Given the description of an element on the screen output the (x, y) to click on. 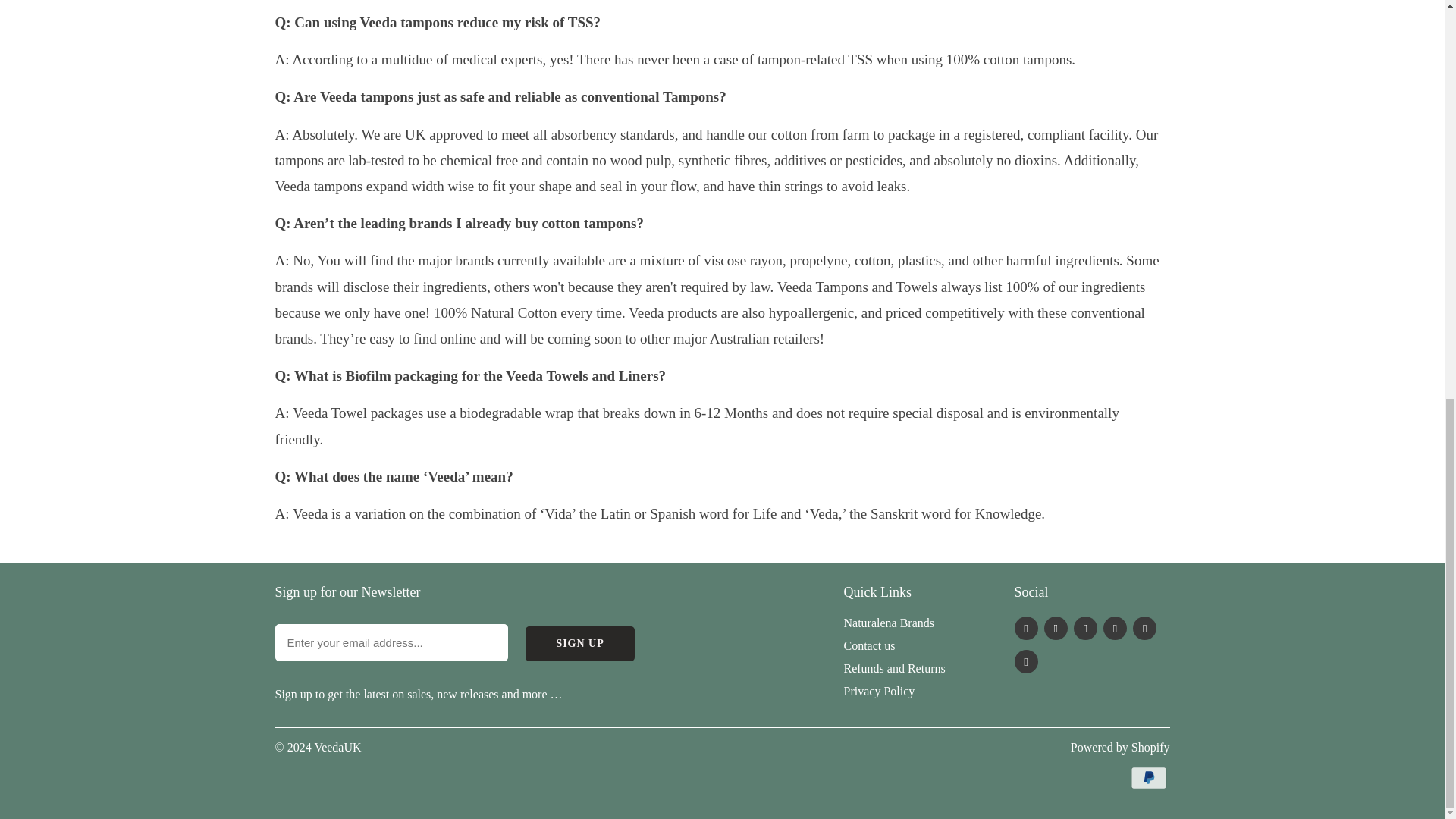
Privacy Policy (878, 690)
Refunds and Returns (893, 667)
Contact us (869, 645)
VeedaUK on Twitter (1026, 627)
VeedaUK on Facebook (1055, 627)
VeedaUK on Pinterest (1085, 627)
Sign Up (579, 643)
Powered by Shopify (1120, 747)
Naturalena Brands (888, 622)
Privacy Policy (878, 690)
Contact us (869, 645)
Refunds and Returns (893, 667)
VeedaUK (337, 747)
Sign Up (579, 643)
Naturalena Brands (888, 622)
